Given the description of an element on the screen output the (x, y) to click on. 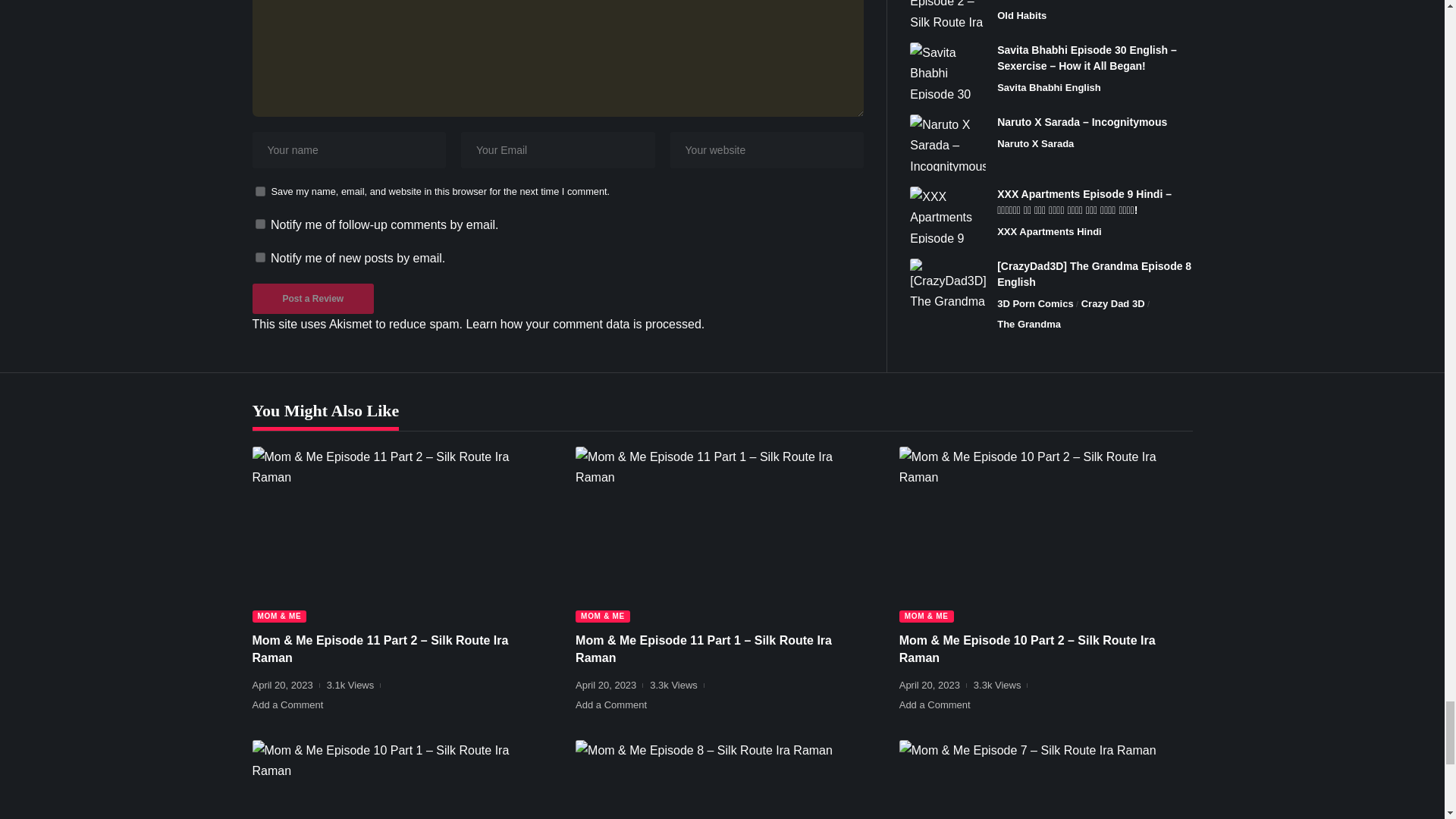
subscribe (259, 257)
subscribe (259, 224)
Post a Review (312, 298)
yes (259, 191)
